Given the description of an element on the screen output the (x, y) to click on. 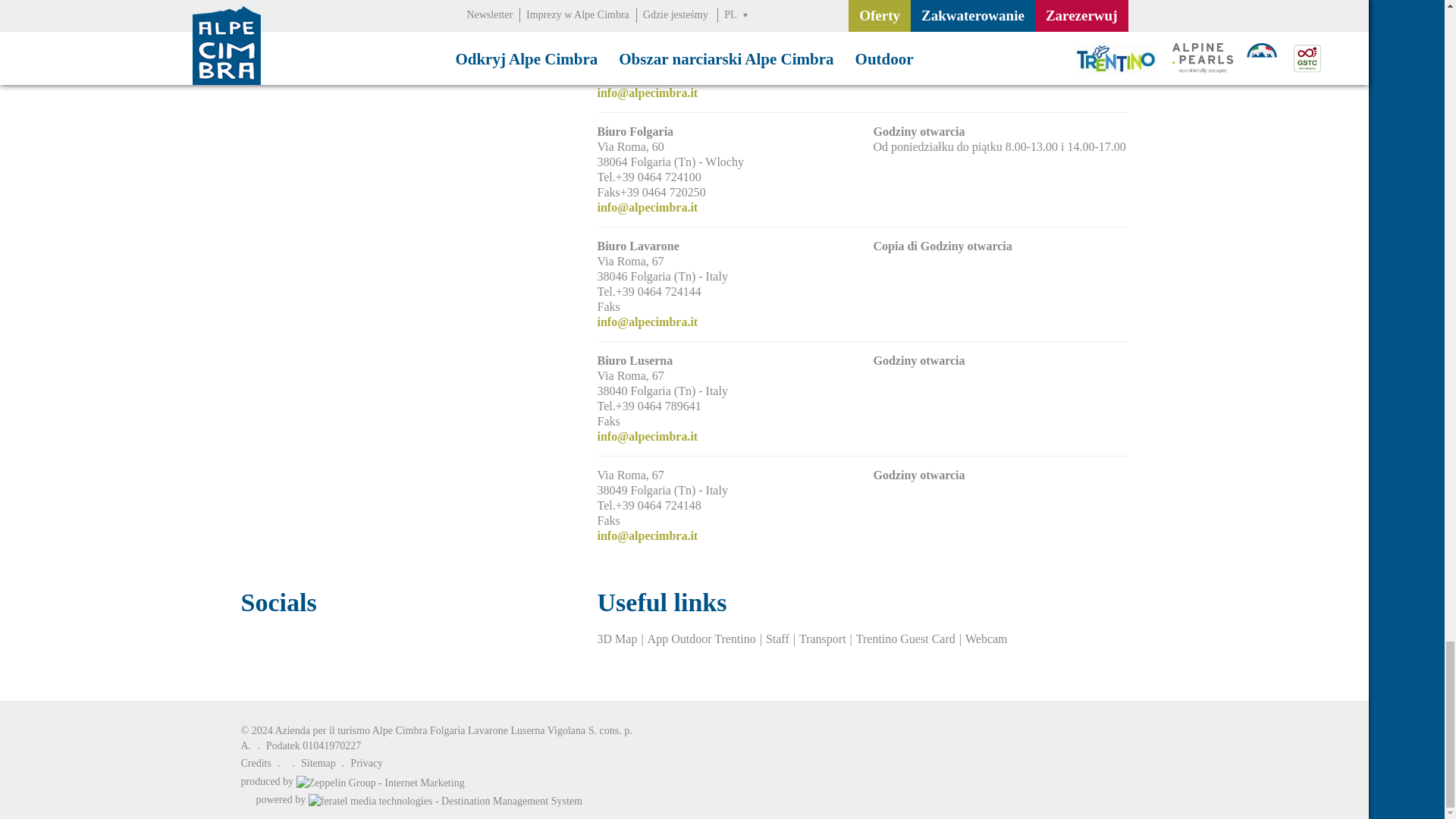
Zeppelin Group - Internet Marketing (352, 781)
 feratel media technologies - Destination Management System  (419, 799)
